Given the description of an element on the screen output the (x, y) to click on. 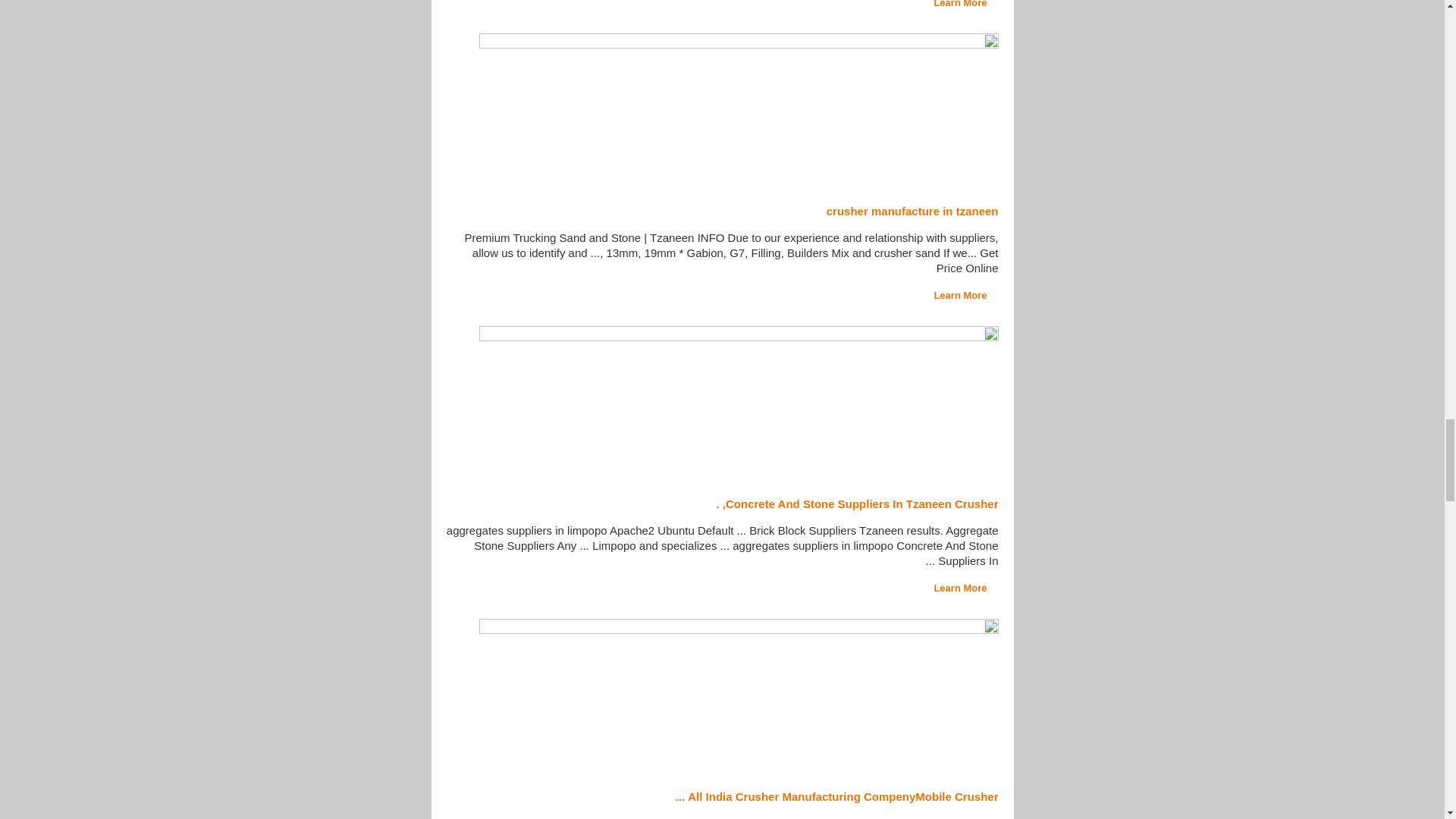
Learn More (965, 4)
Learn More (965, 587)
Learn More (965, 295)
